Given the description of an element on the screen output the (x, y) to click on. 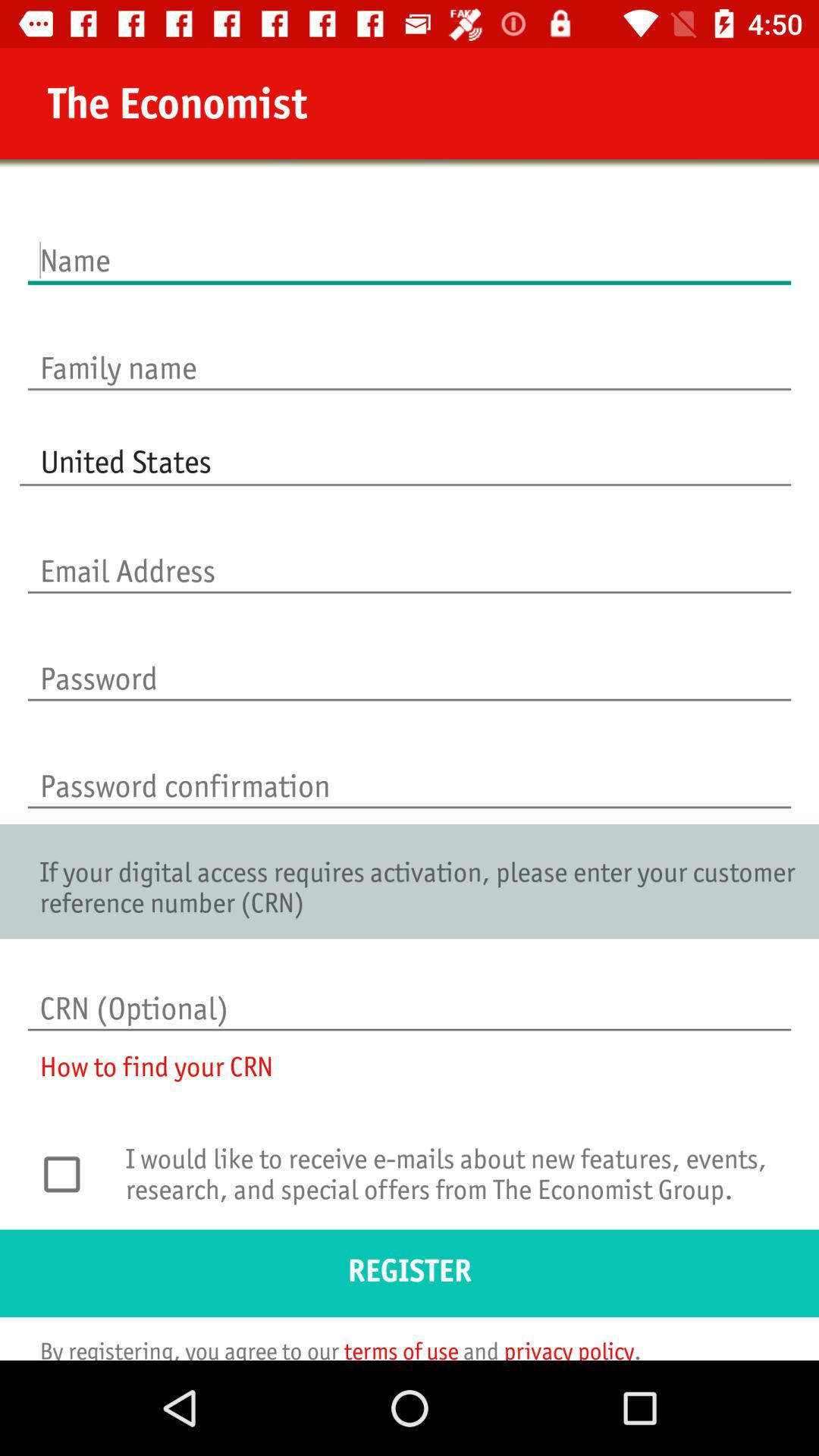
enter email address (409, 555)
